Given the description of an element on the screen output the (x, y) to click on. 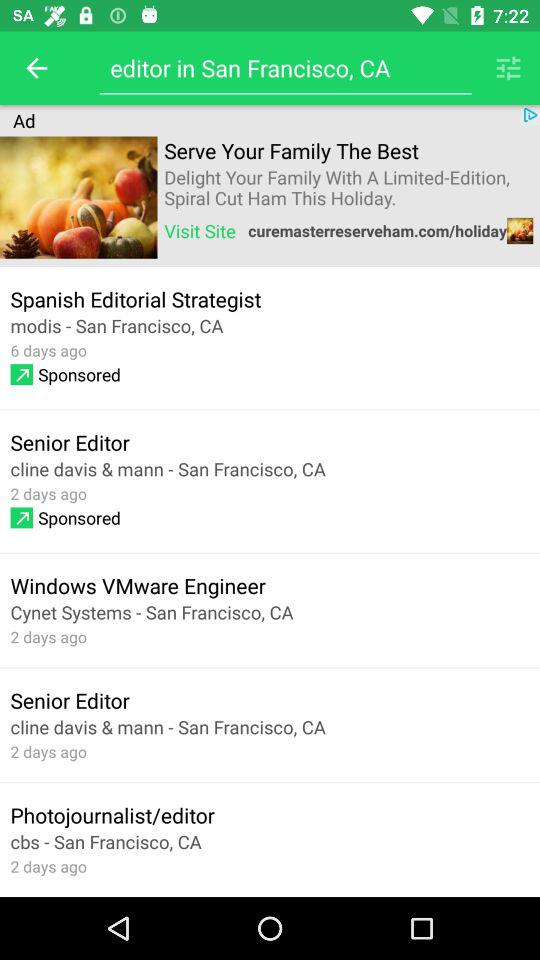
turn on editor in san (285, 67)
